Given the description of an element on the screen output the (x, y) to click on. 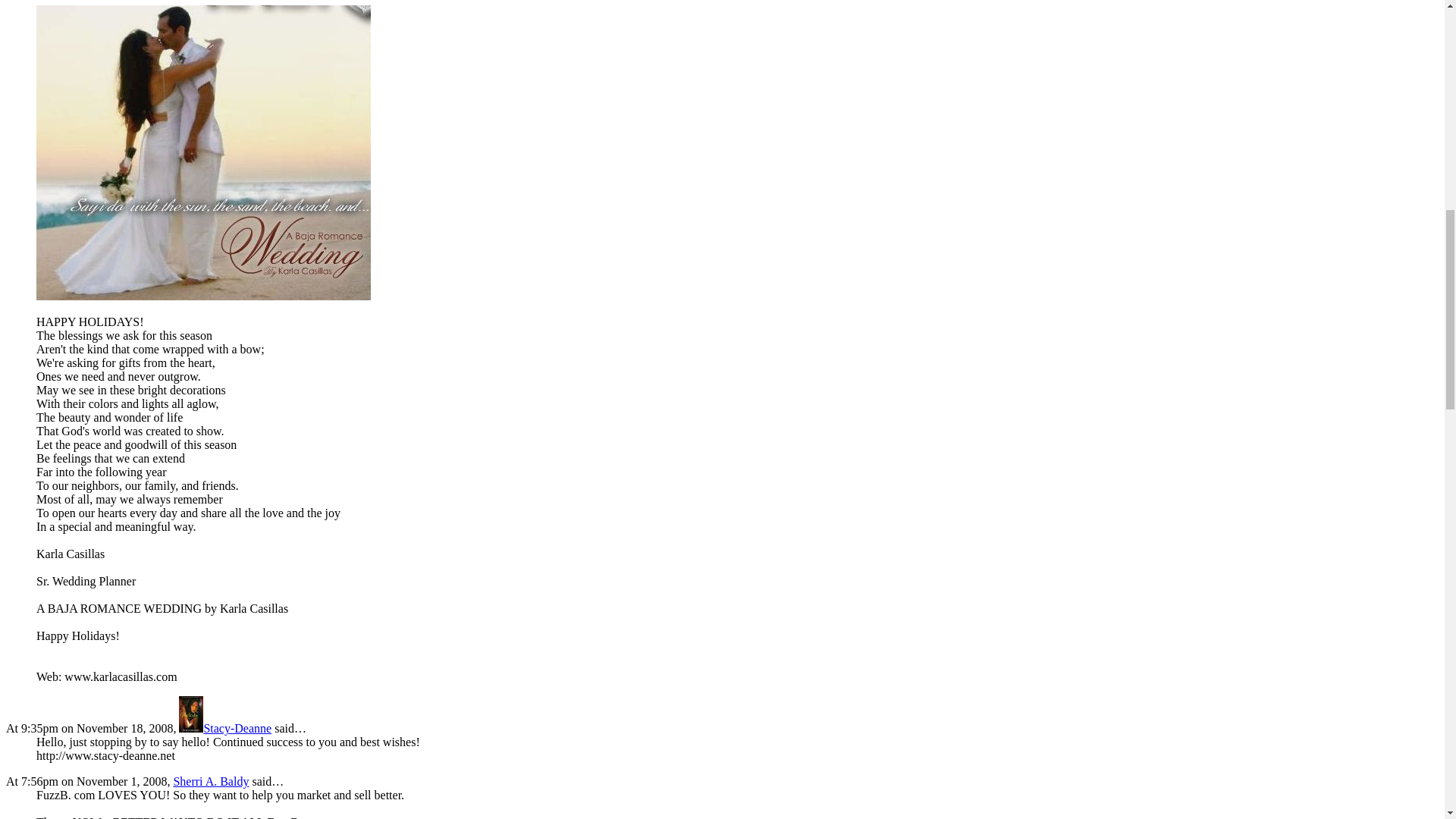
Stacy-Deanne (224, 727)
Sherri A. Baldy (210, 780)
